Given the description of an element on the screen output the (x, y) to click on. 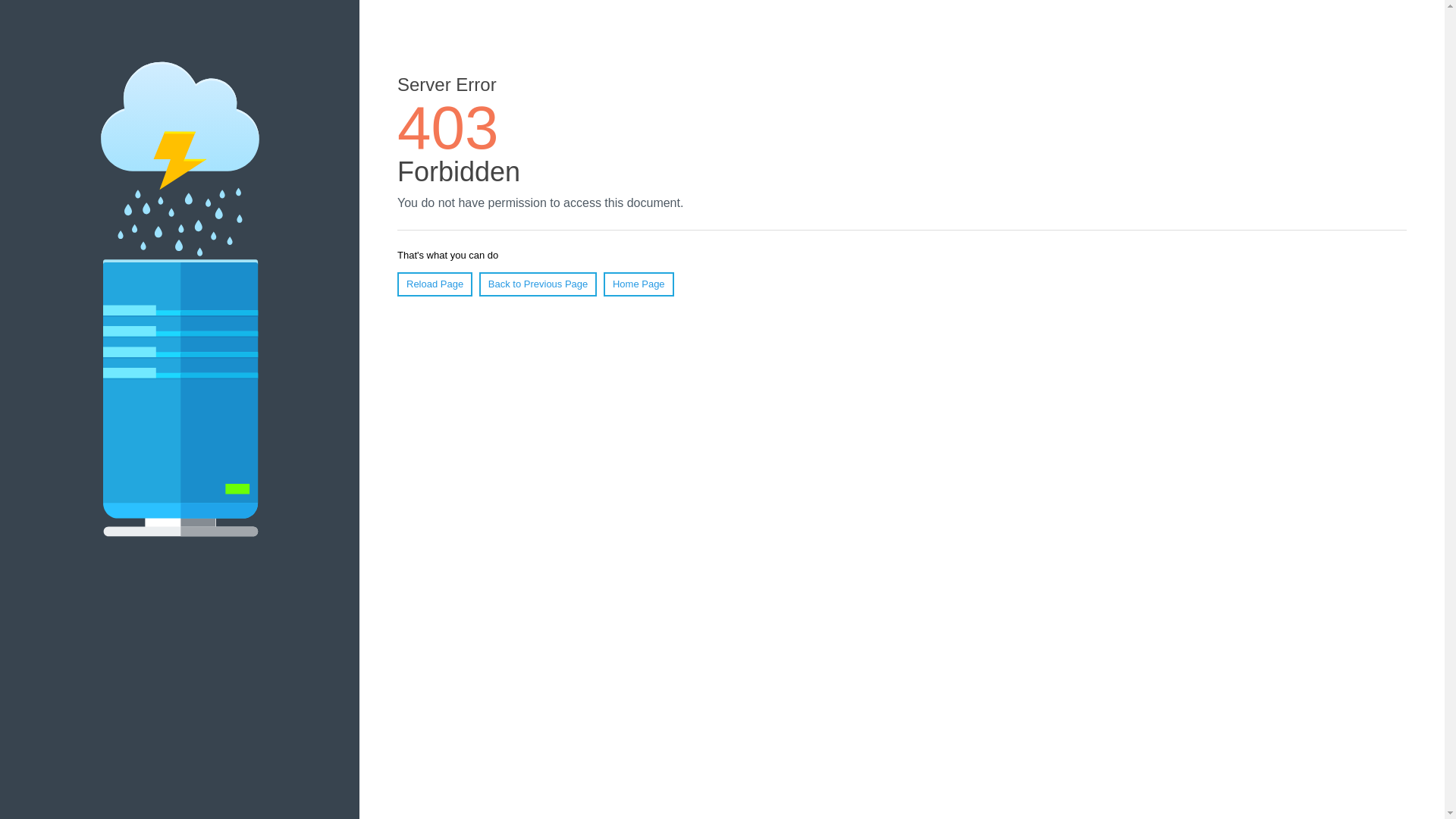
Reload Page Element type: text (434, 284)
Back to Previous Page Element type: text (538, 284)
Home Page Element type: text (638, 284)
